Given the description of an element on the screen output the (x, y) to click on. 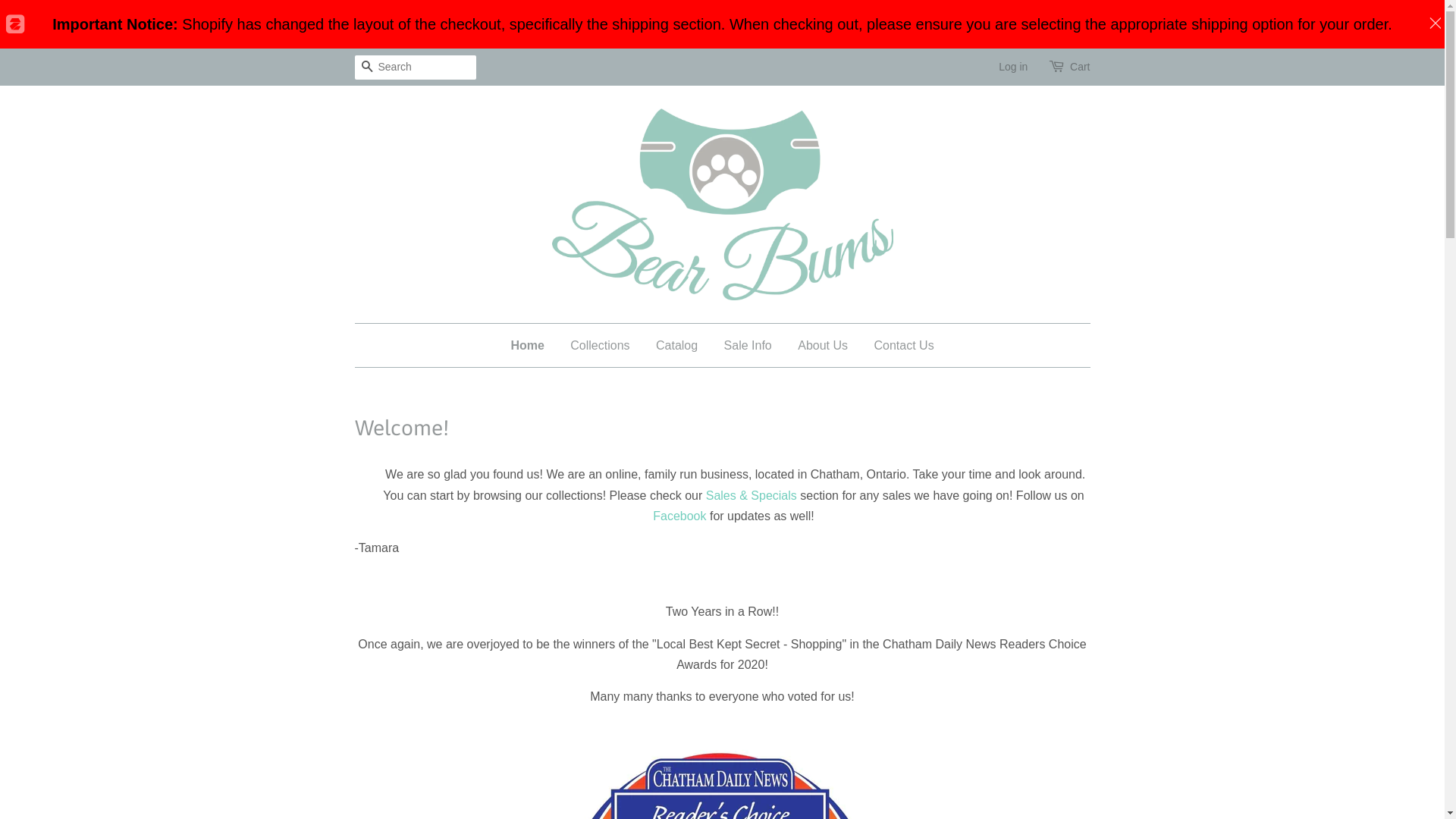
About Us Element type: text (822, 345)
Home Element type: text (532, 345)
Facebook Element type: text (679, 515)
Contact Us Element type: text (897, 345)
Log in Element type: text (1012, 66)
Search Element type: text (366, 67)
Zotabox Element type: hover (14, 24)
Catalog Element type: text (676, 345)
Collections Element type: text (599, 345)
Sale Info Element type: text (747, 345)
Cart Element type: text (1079, 67)
Sales & Specials Element type: text (751, 495)
